Given the description of an element on the screen output the (x, y) to click on. 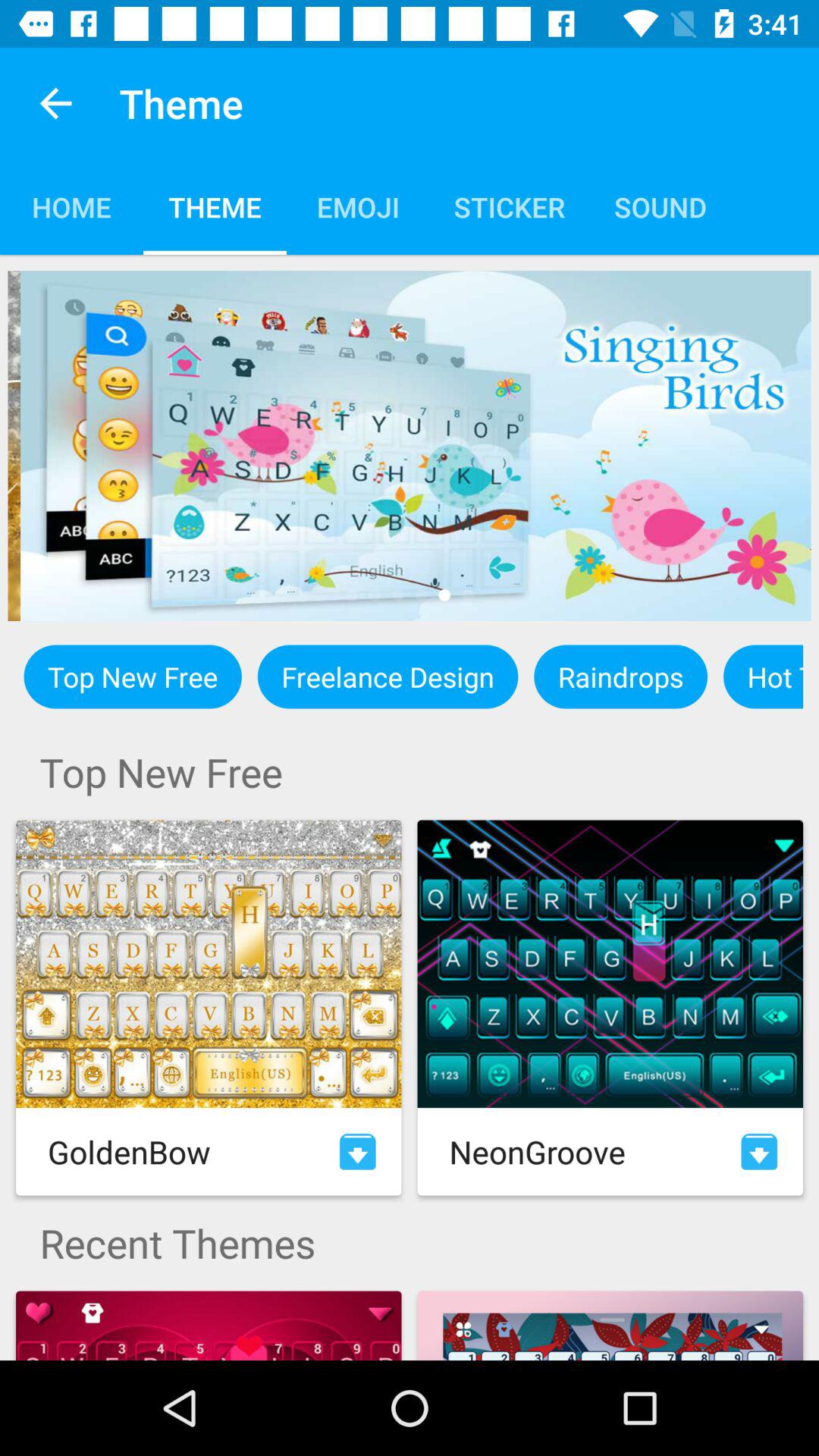
turn on the icon next to the top new free icon (387, 676)
